Given the description of an element on the screen output the (x, y) to click on. 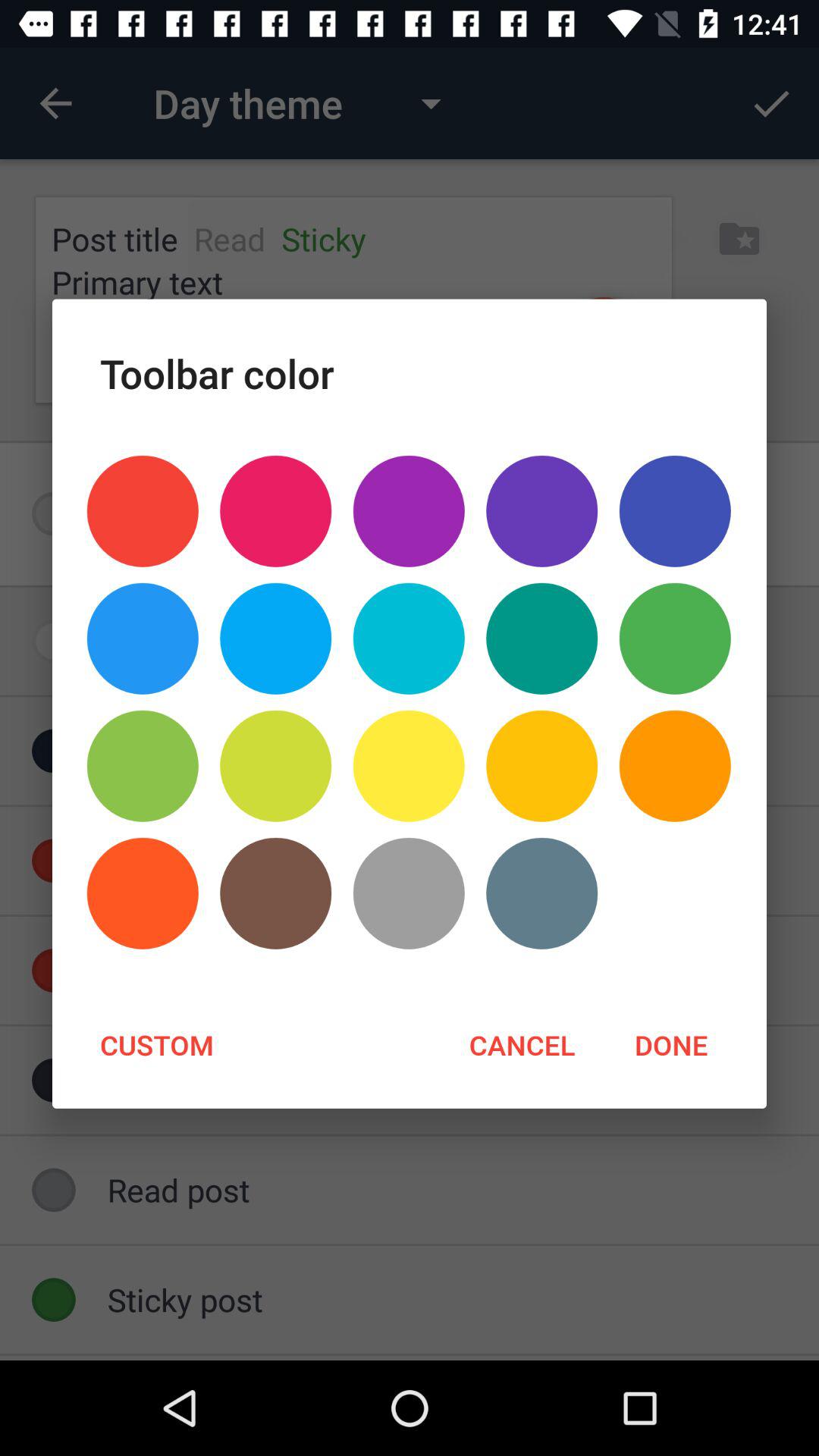
turn off item next to the done icon (522, 1044)
